Given the description of an element on the screen output the (x, y) to click on. 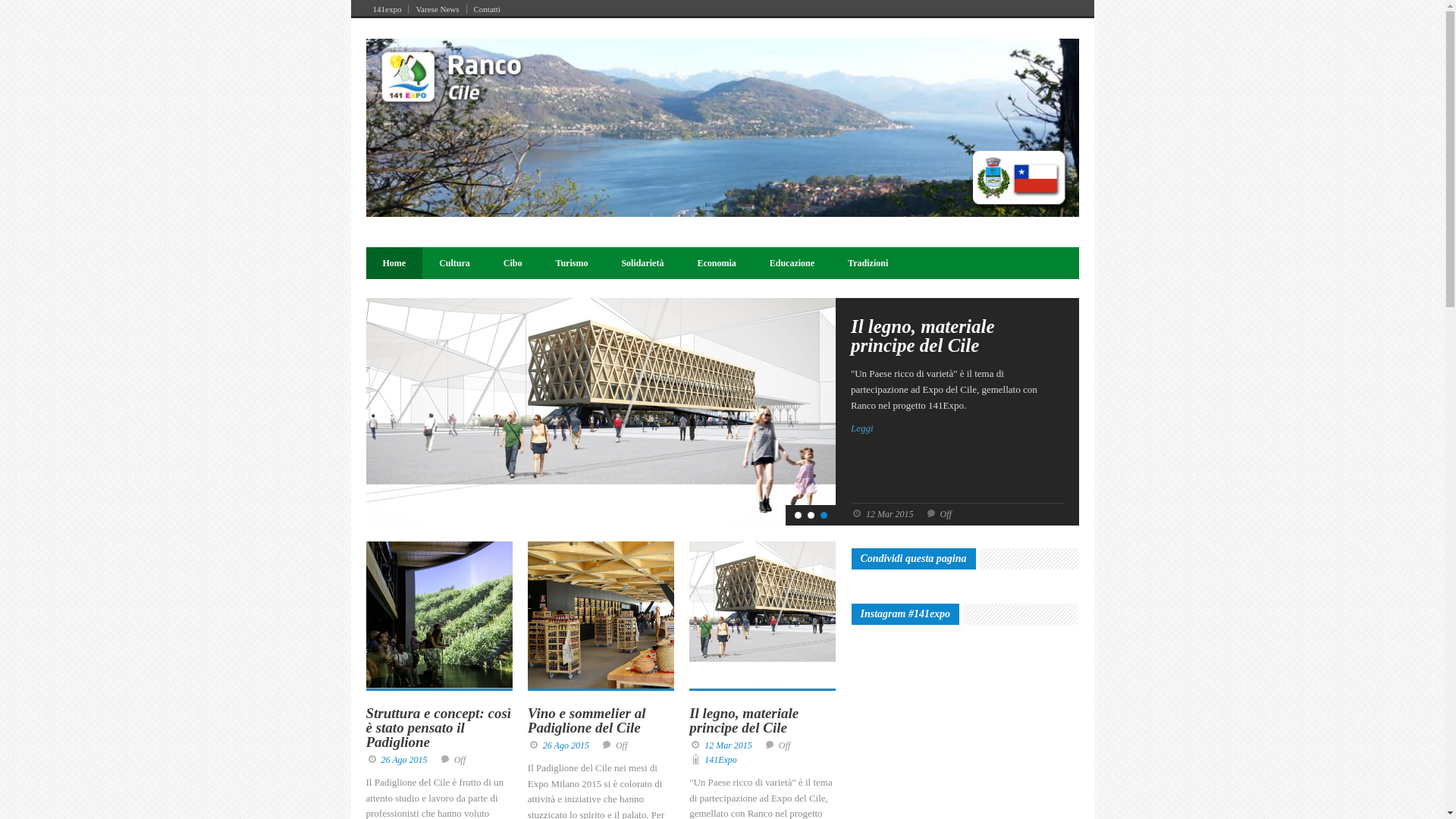
2 Element type: text (810, 514)
Varese News Element type: text (437, 8)
141Expo Element type: text (720, 759)
Educazione Element type: text (792, 263)
Il legno, materiale principe del Cile Element type: text (743, 720)
3 Element type: text (823, 514)
Vino e sommelier al Padiglione del Cile Element type: text (586, 720)
Home Element type: text (393, 263)
12 Mar 2015 Element type: text (728, 745)
Cultura Element type: text (454, 263)
141expo Element type: text (386, 8)
12 Mar 2015 Element type: text (889, 513)
Economia Element type: text (716, 263)
26 Ago 2015 Element type: text (403, 759)
Turismo Element type: text (572, 263)
Tradizioni Element type: text (867, 263)
Cibo Element type: text (512, 263)
Leggi Element type: text (956, 428)
Contatti Element type: text (487, 8)
26 Ago 2015 Element type: text (565, 745)
1 Element type: text (797, 514)
